Given the description of an element on the screen output the (x, y) to click on. 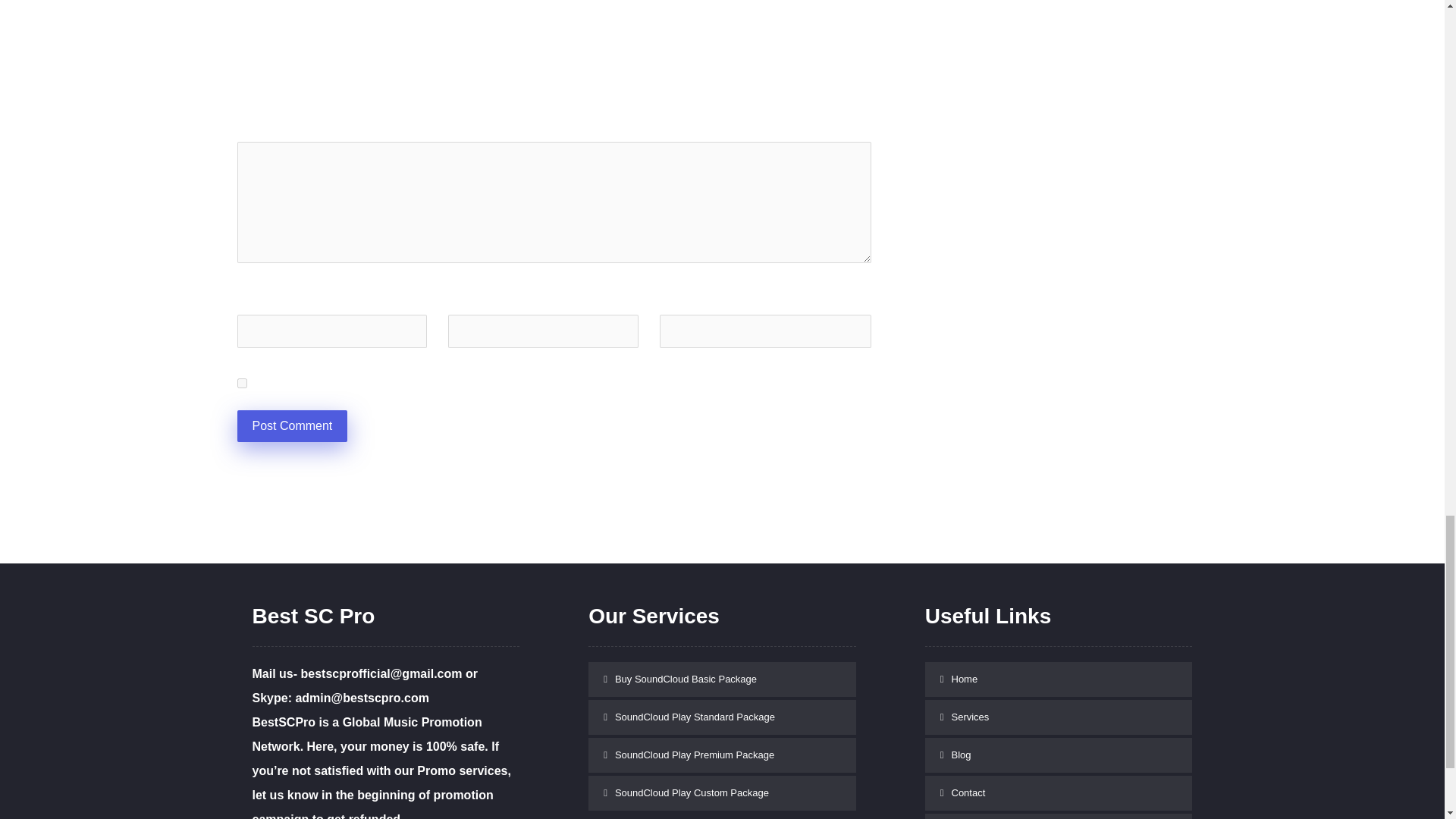
SoundCloud Play Standard Package (722, 717)
yes (240, 383)
Post Comment (291, 426)
My Account (1058, 816)
Post Comment (291, 426)
Services (1058, 717)
Contact (1058, 792)
Blog (1058, 755)
SoundCloud Play Premium Package (722, 755)
SoundCloud Play Custom Package (722, 792)
